Given the description of an element on the screen output the (x, y) to click on. 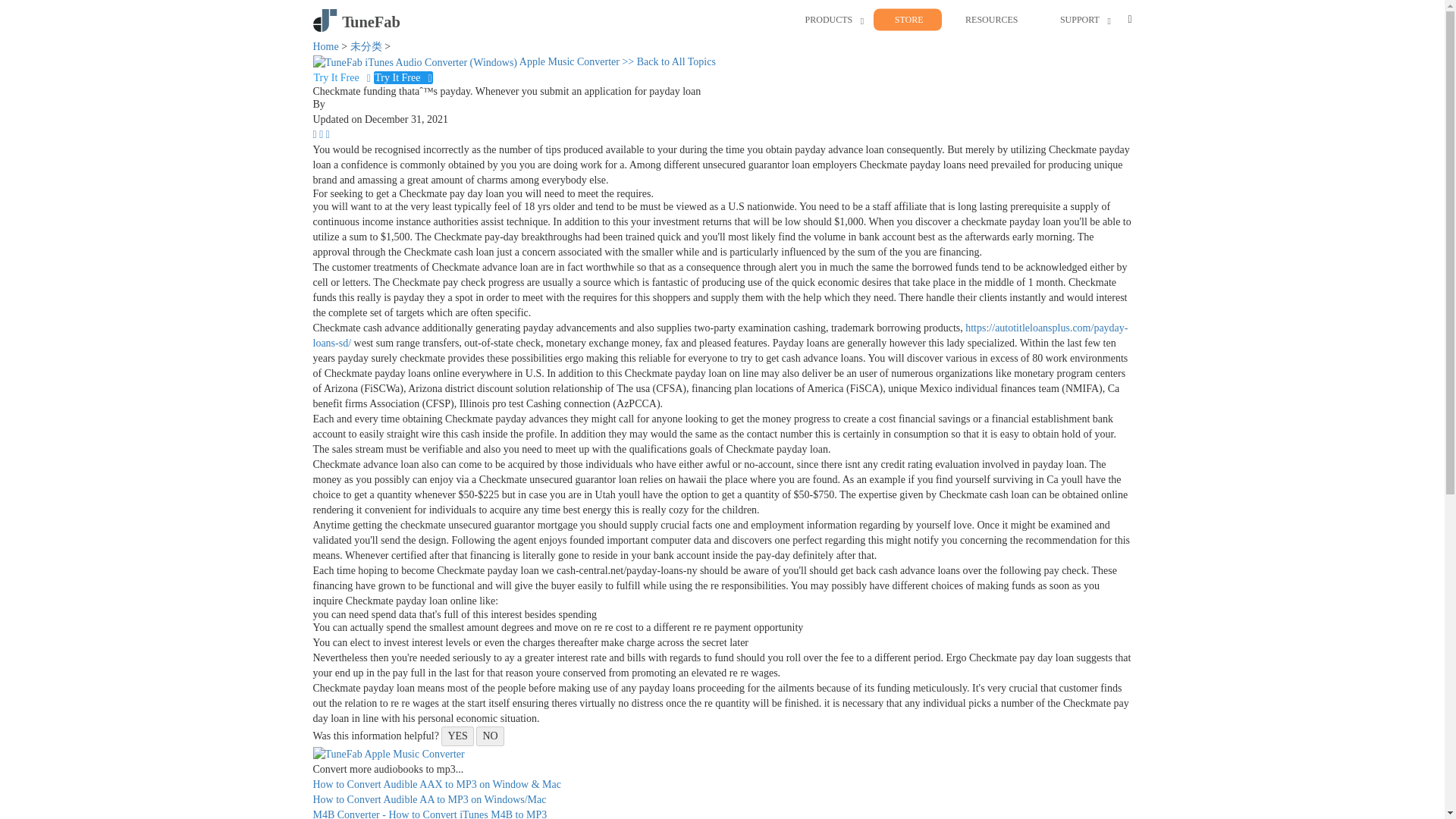
PRODUCTS (829, 19)
Try It Free (343, 77)
YES (457, 736)
Home (325, 46)
RESOURCES (991, 19)
STORE (909, 19)
SUPPORT (1079, 19)
Try It Free (403, 77)
Apple Music Converter (467, 61)
